Given the description of an element on the screen output the (x, y) to click on. 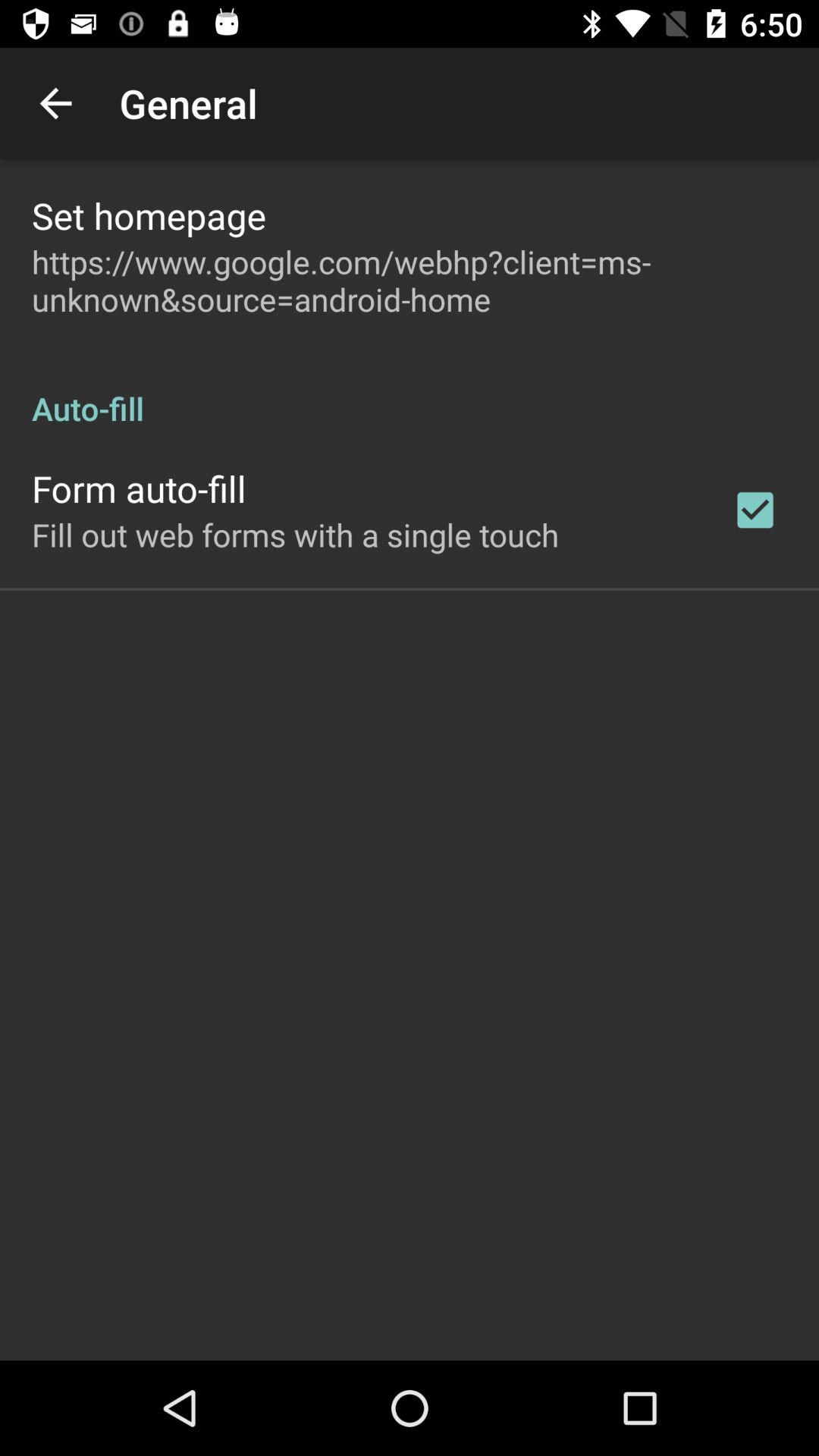
open set homepage app (148, 215)
